Given the description of an element on the screen output the (x, y) to click on. 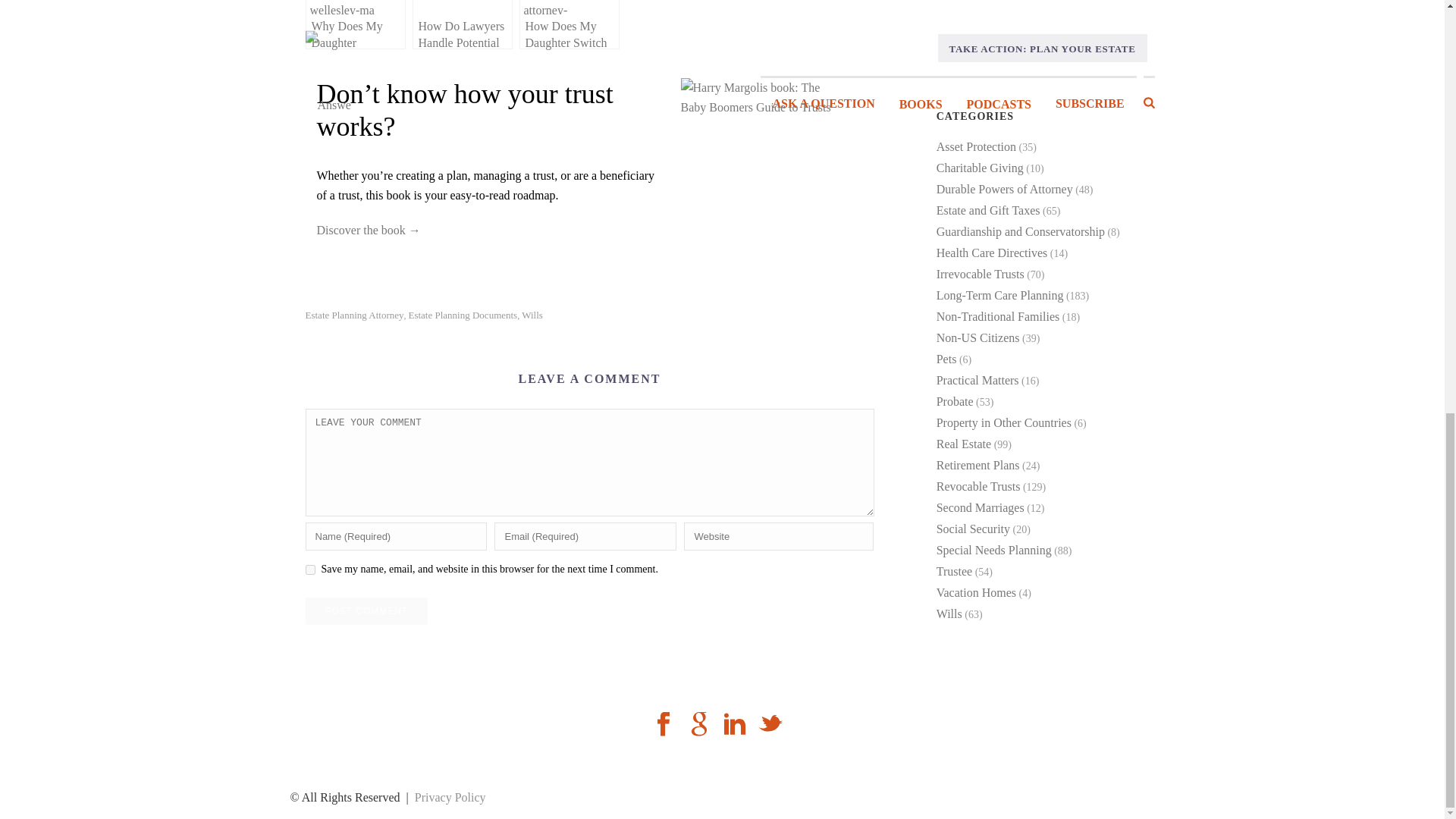
yes (309, 569)
POST COMMENT (366, 610)
Follow Us on google (699, 724)
Follow Us on facebook (662, 724)
Estate Planning Attorney (353, 315)
